Given the description of an element on the screen output the (x, y) to click on. 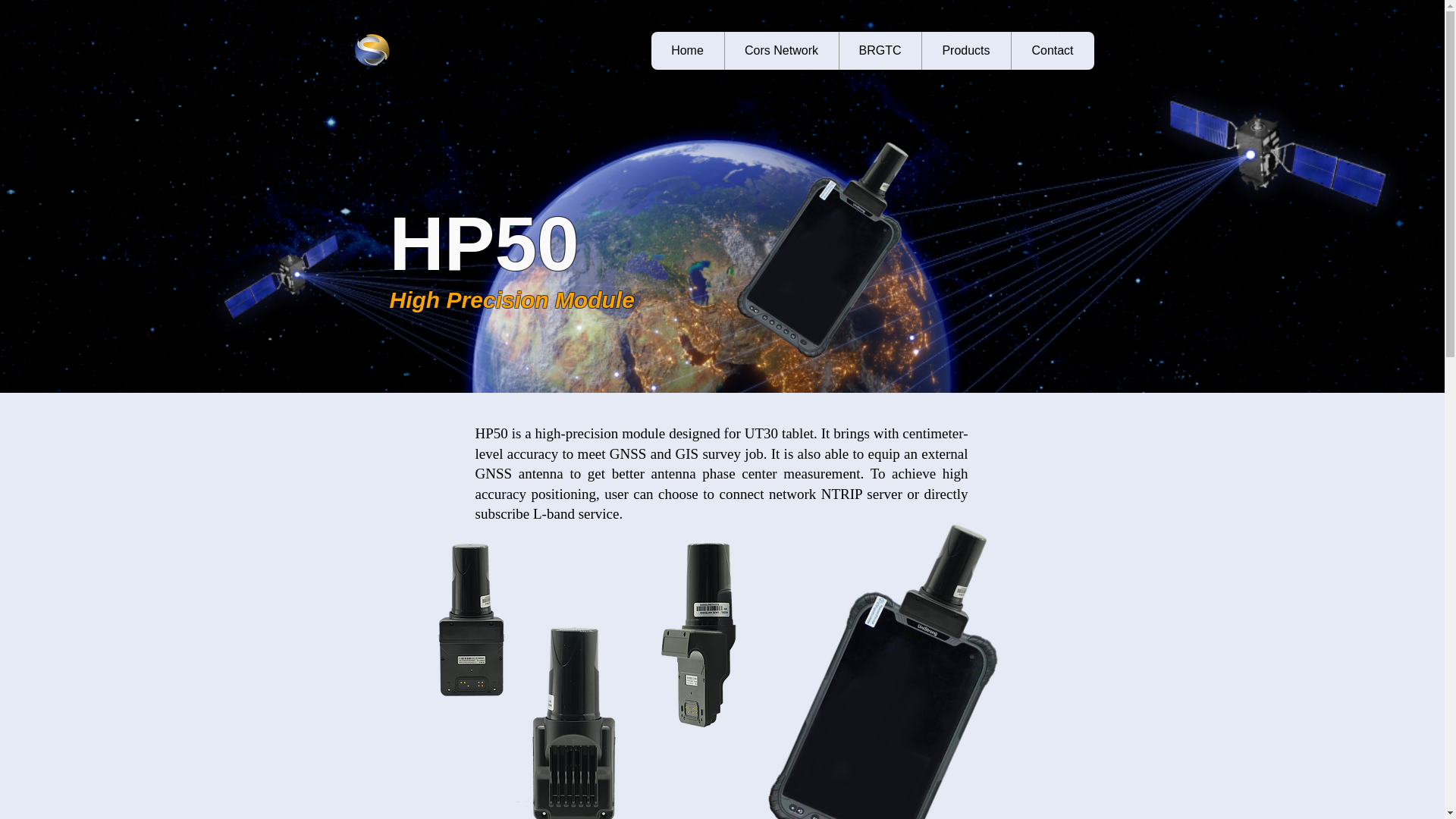
Cors Network (780, 50)
HS logo whight.png (370, 50)
Products (965, 50)
Contact (1051, 50)
Home (686, 50)
BRGTC (879, 50)
